Given the description of an element on the screen output the (x, y) to click on. 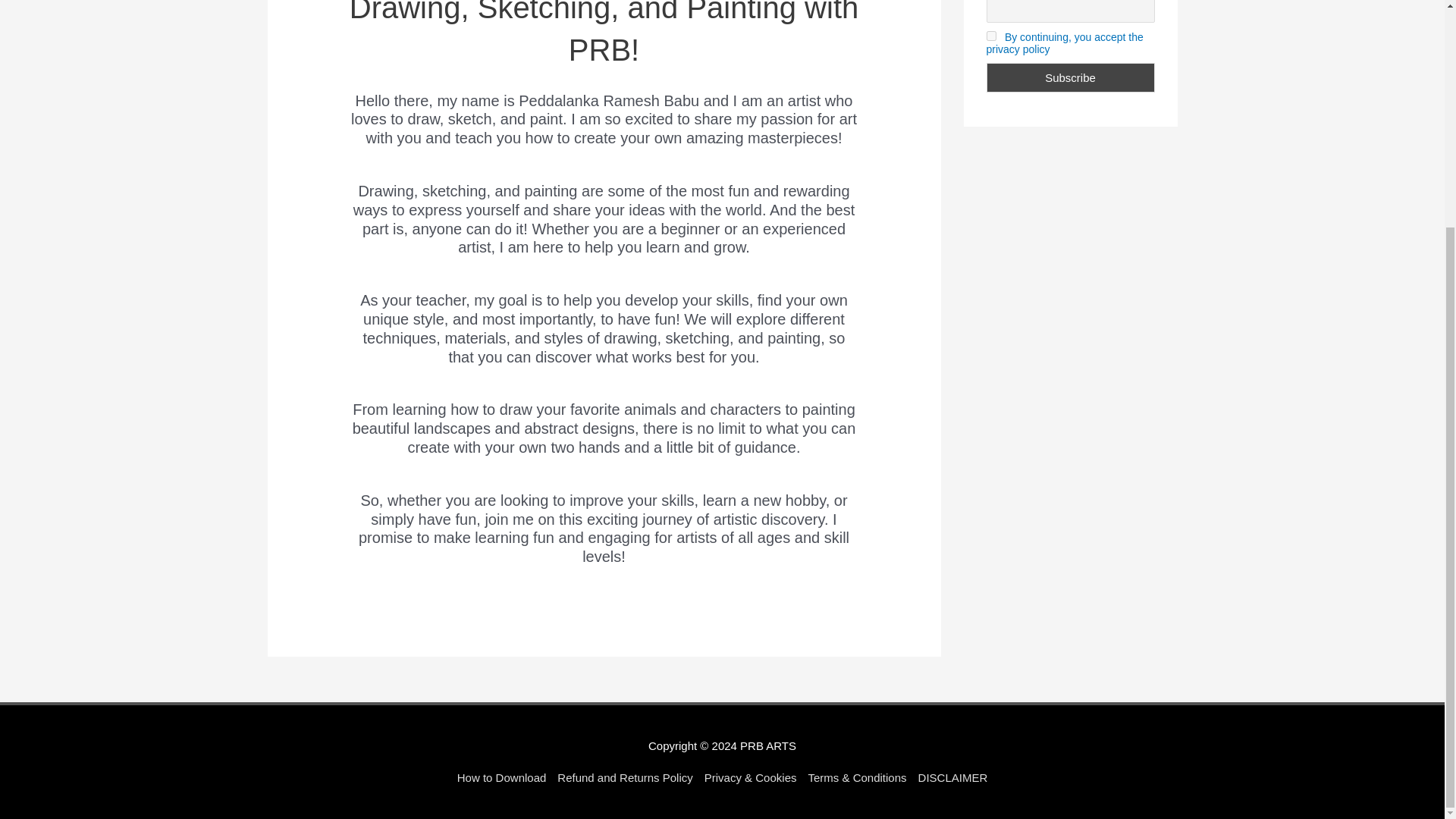
Refund and Returns Policy (624, 777)
Subscribe (1069, 77)
Subscribe (1069, 77)
on (990, 35)
How to Download (504, 777)
By continuing, you accept the privacy policy (1063, 43)
DISCLAIMER (949, 777)
